Given the description of an element on the screen output the (x, y) to click on. 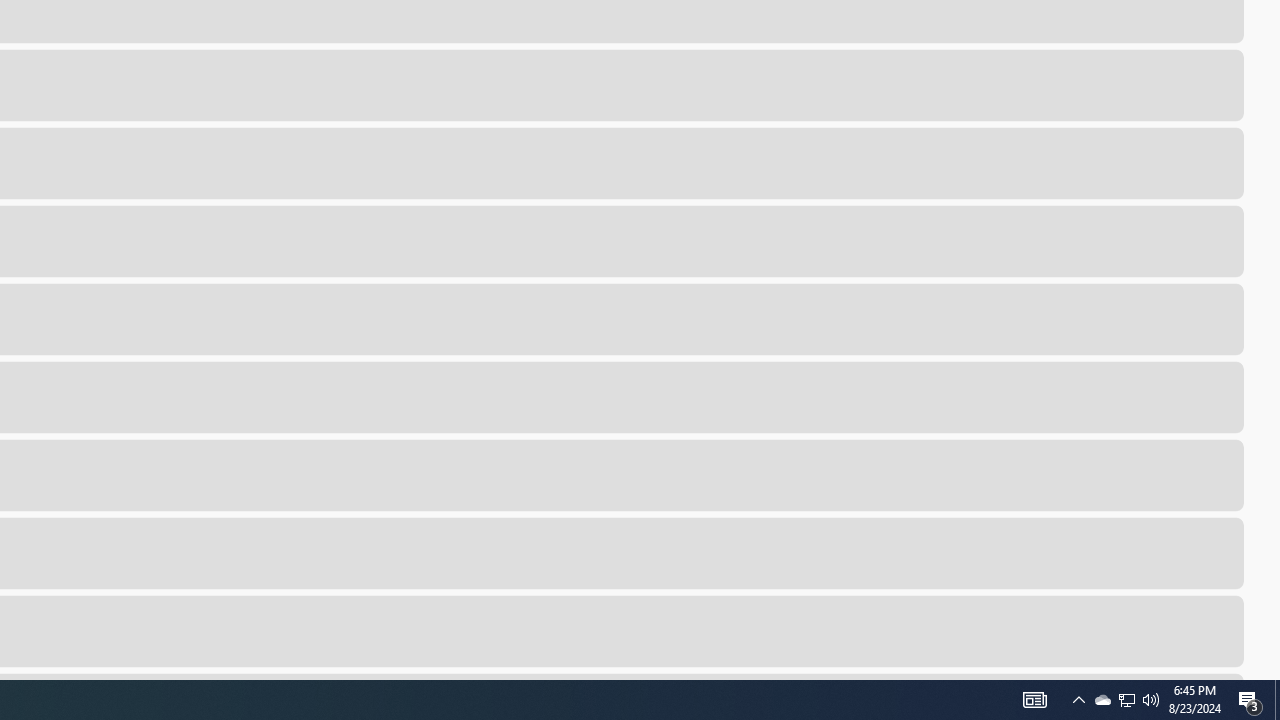
More options (1215, 630)
Open (1123, 630)
